Given the description of an element on the screen output the (x, y) to click on. 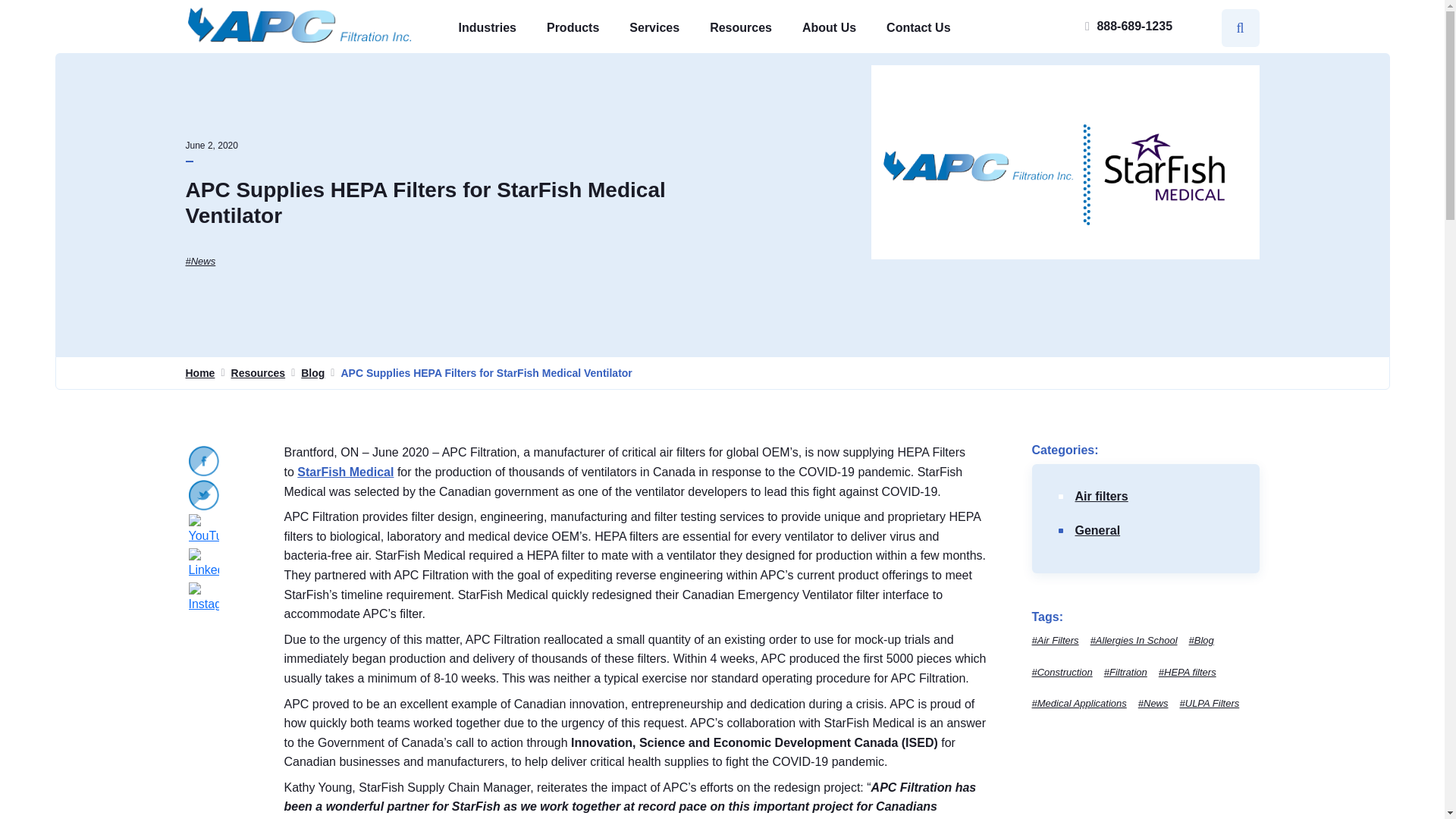
YouTube (202, 530)
Resources (258, 372)
Allergies In School (1133, 641)
Air Filters (1054, 641)
LinkedIn (202, 563)
Twitter (202, 494)
APC Filtration Inc. (300, 25)
Blog (312, 372)
Facebook (202, 460)
Instagram (202, 598)
News (199, 261)
